Given the description of an element on the screen output the (x, y) to click on. 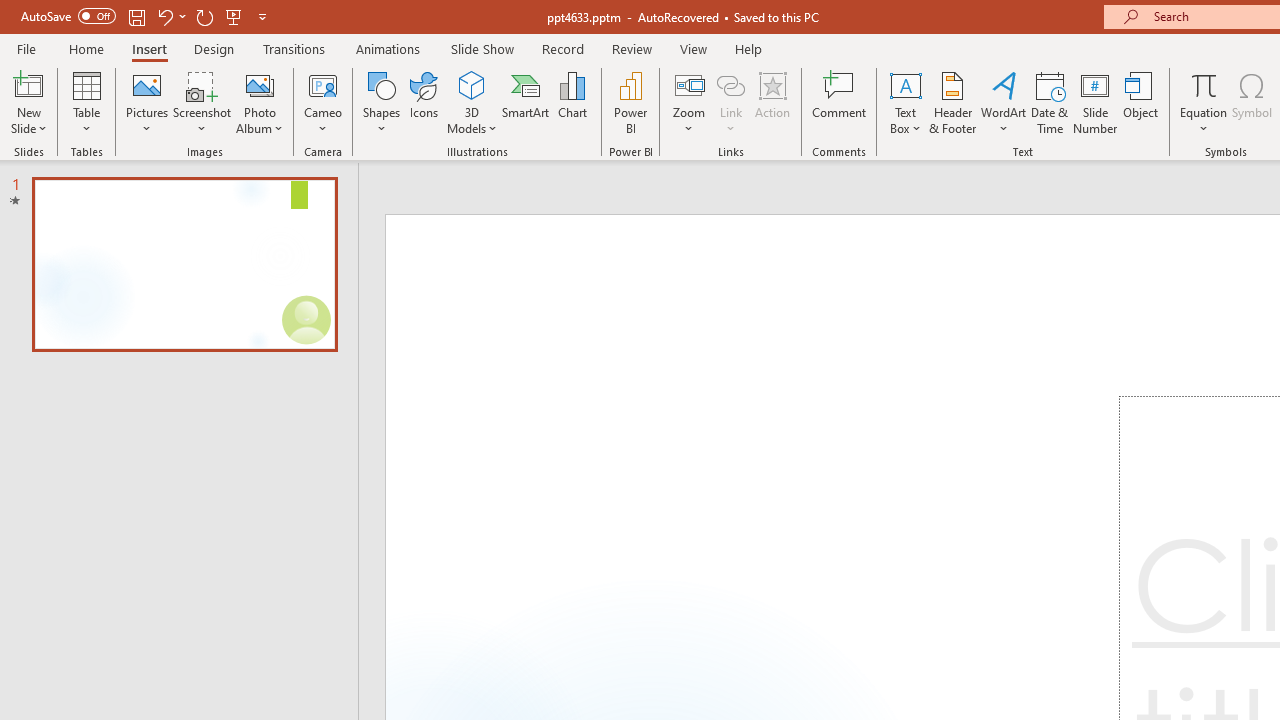
Link (731, 84)
New Photo Album... (259, 84)
Comment (839, 102)
Link (731, 102)
Photo Album... (259, 102)
